Given the description of an element on the screen output the (x, y) to click on. 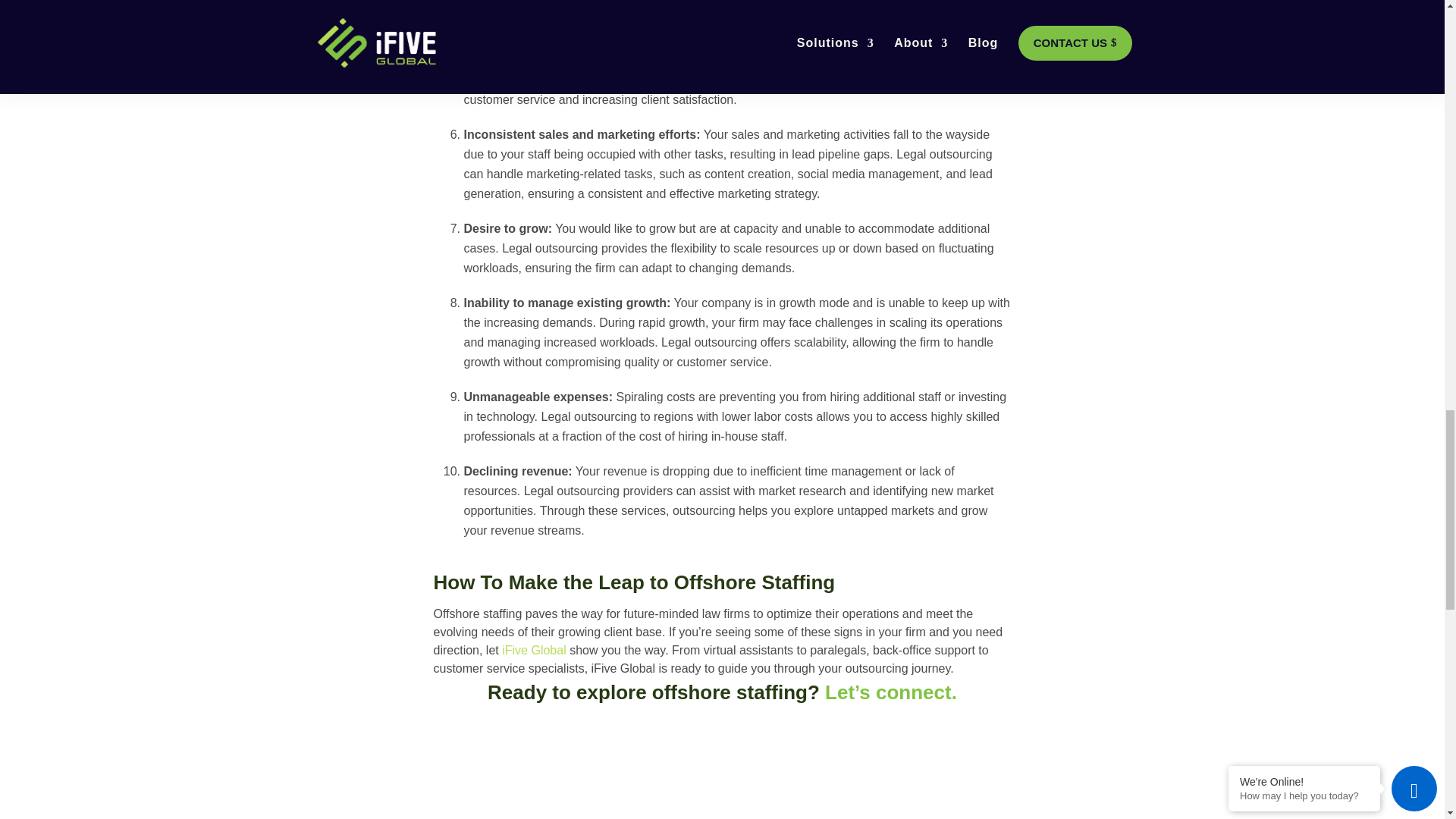
iFive Global (534, 649)
